Given the description of an element on the screen output the (x, y) to click on. 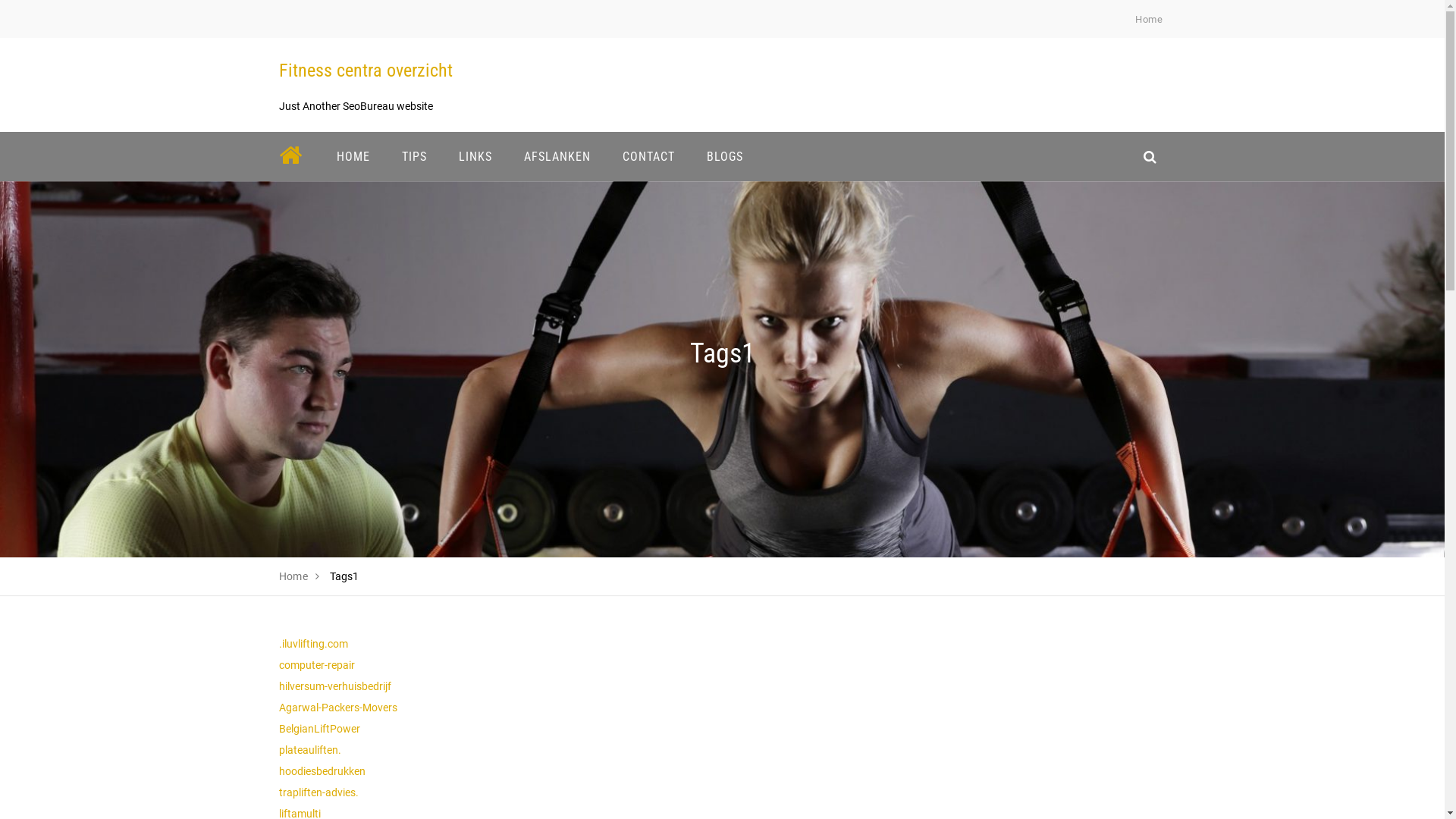
Home Element type: text (1148, 19)
hilversum-verhuisbedrijf Element type: text (335, 686)
LINKS Element type: text (475, 156)
AFSLANKEN Element type: text (557, 156)
BelgianLiftPower Element type: text (319, 728)
trapliften-advies. Element type: text (318, 792)
search_icon Element type: hover (1148, 156)
computer-repair Element type: text (316, 664)
TIPS Element type: text (413, 156)
Agarwal-Packers-Movers Element type: text (338, 707)
plateauliften. Element type: text (310, 749)
Fitness centra overzicht Element type: text (365, 70)
HOME Element type: text (352, 156)
.iluvlifting.com Element type: text (313, 643)
Home Element type: text (293, 576)
CONTACT Element type: text (648, 156)
hoodiesbedrukken Element type: text (322, 771)
BLOGS Element type: text (724, 156)
